Given the description of an element on the screen output the (x, y) to click on. 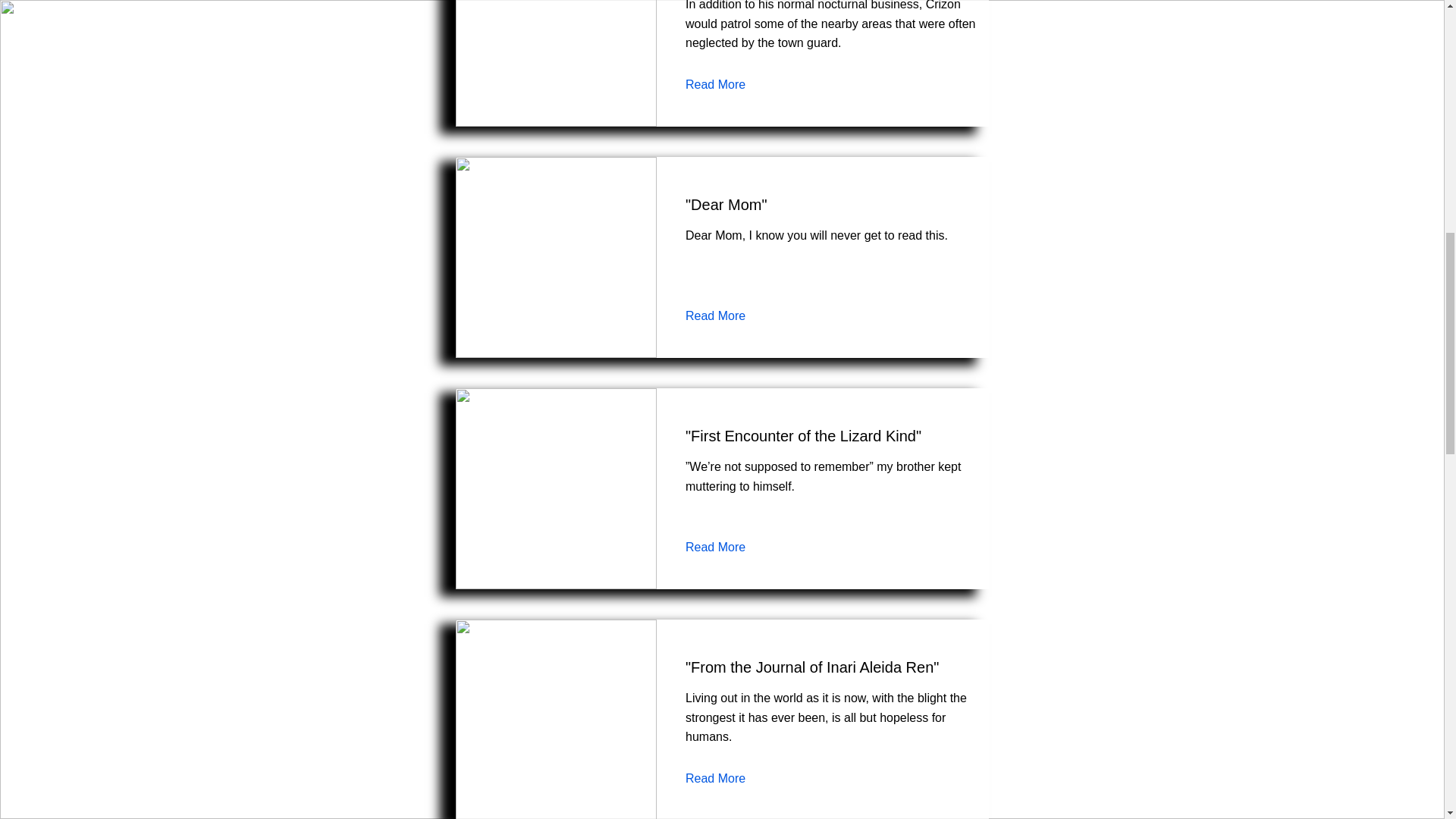
AdmirableFlimsyDeermouse-max-1mb.gif (555, 719)
Read More (726, 315)
XDZT.gif (555, 488)
animation-library-magicbookp-022120.gif (555, 257)
Read More (726, 84)
Read More (726, 778)
Read More (726, 547)
